Given the description of an element on the screen output the (x, y) to click on. 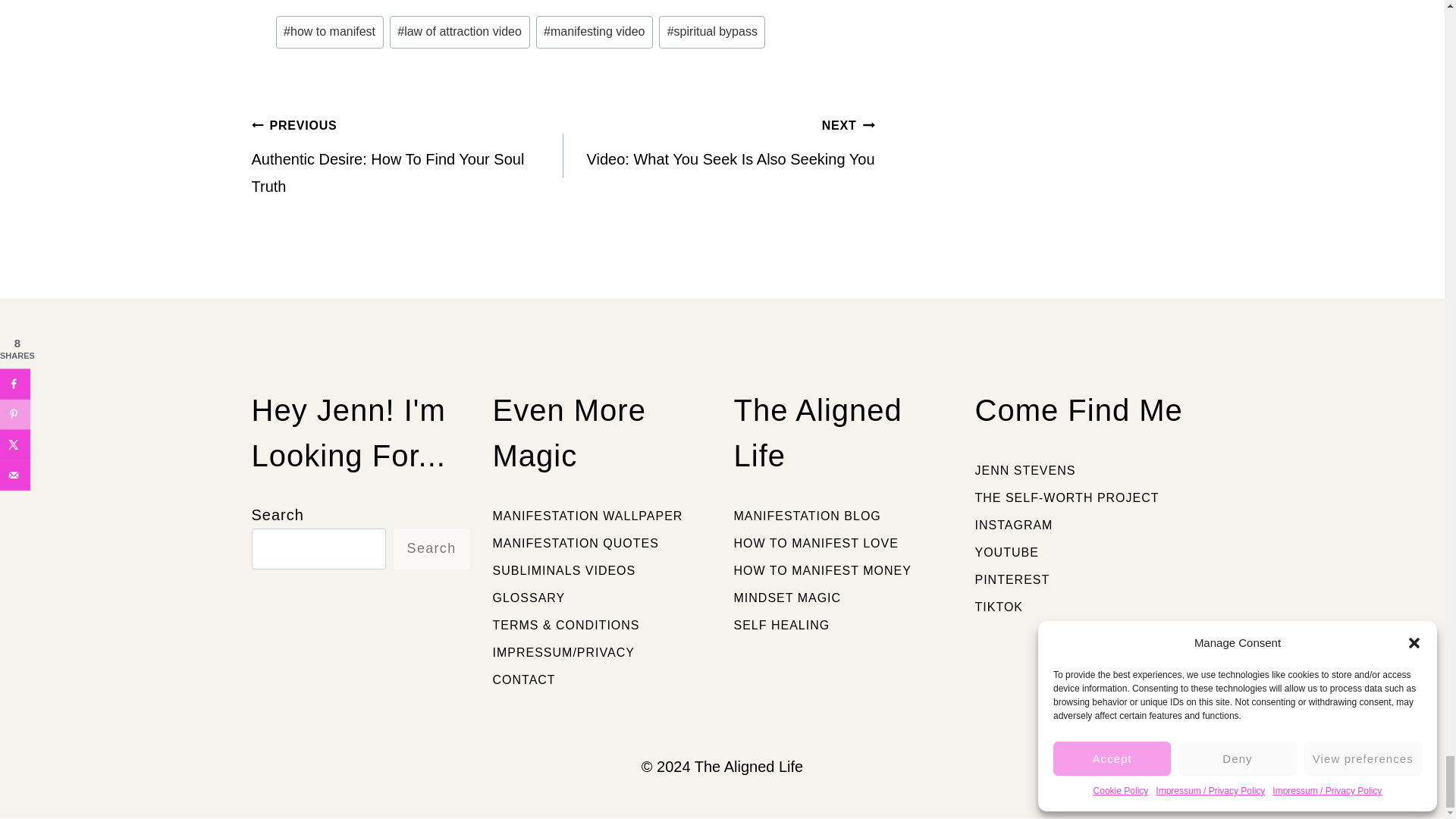
spiritual bypass (712, 32)
how to manifest (330, 32)
manifesting video (593, 32)
law of attraction video (459, 32)
